Given the description of an element on the screen output the (x, y) to click on. 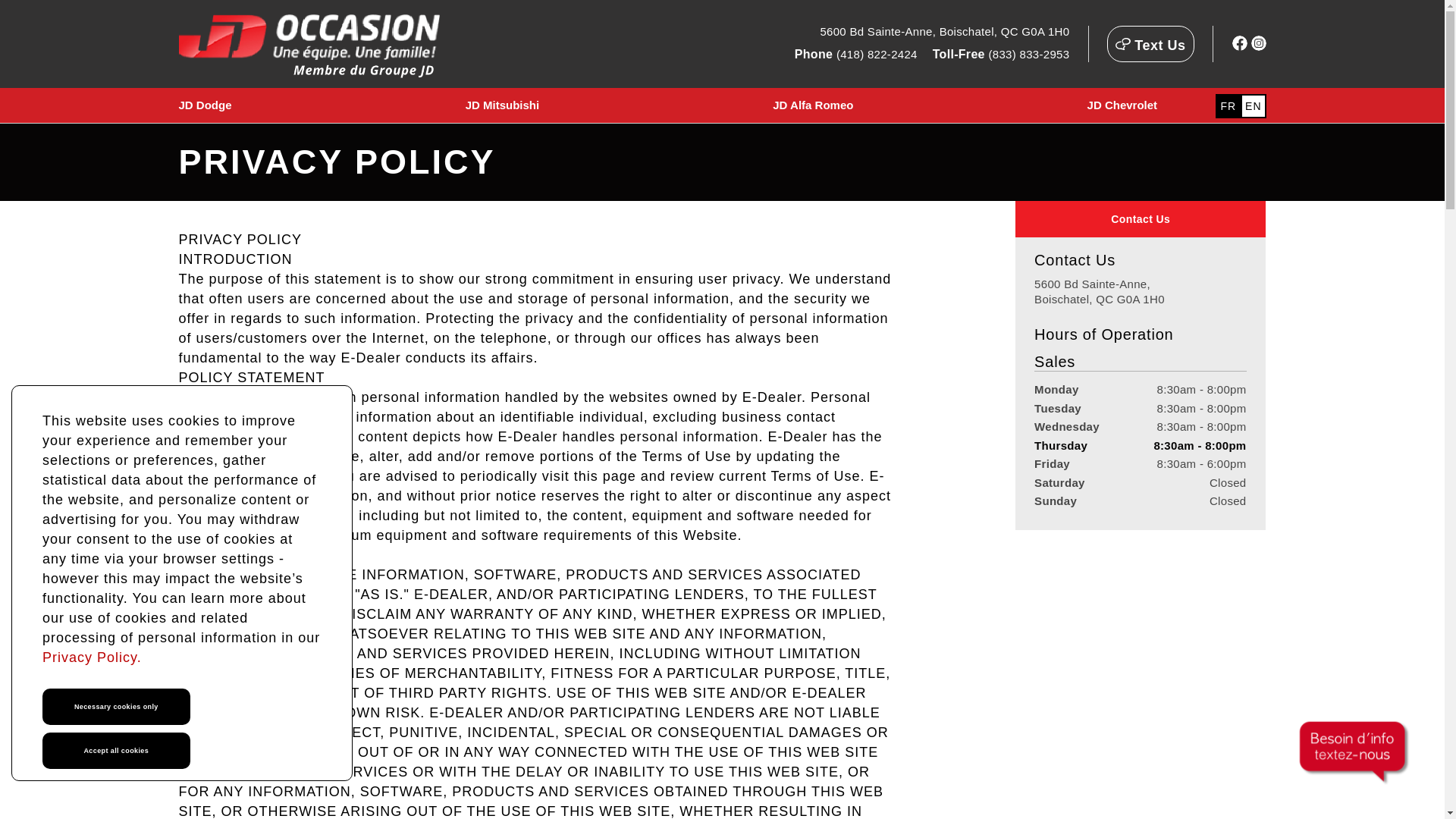
JD Alfa Romeo (813, 104)
JD Mitsubishi (502, 104)
Privacy Policy. (1098, 291)
EN (91, 657)
JD Chevrolet (1252, 105)
FR (1122, 104)
Contact Us (943, 30)
Text Us (1227, 105)
JD Dodge (1139, 218)
